Given the description of an element on the screen output the (x, y) to click on. 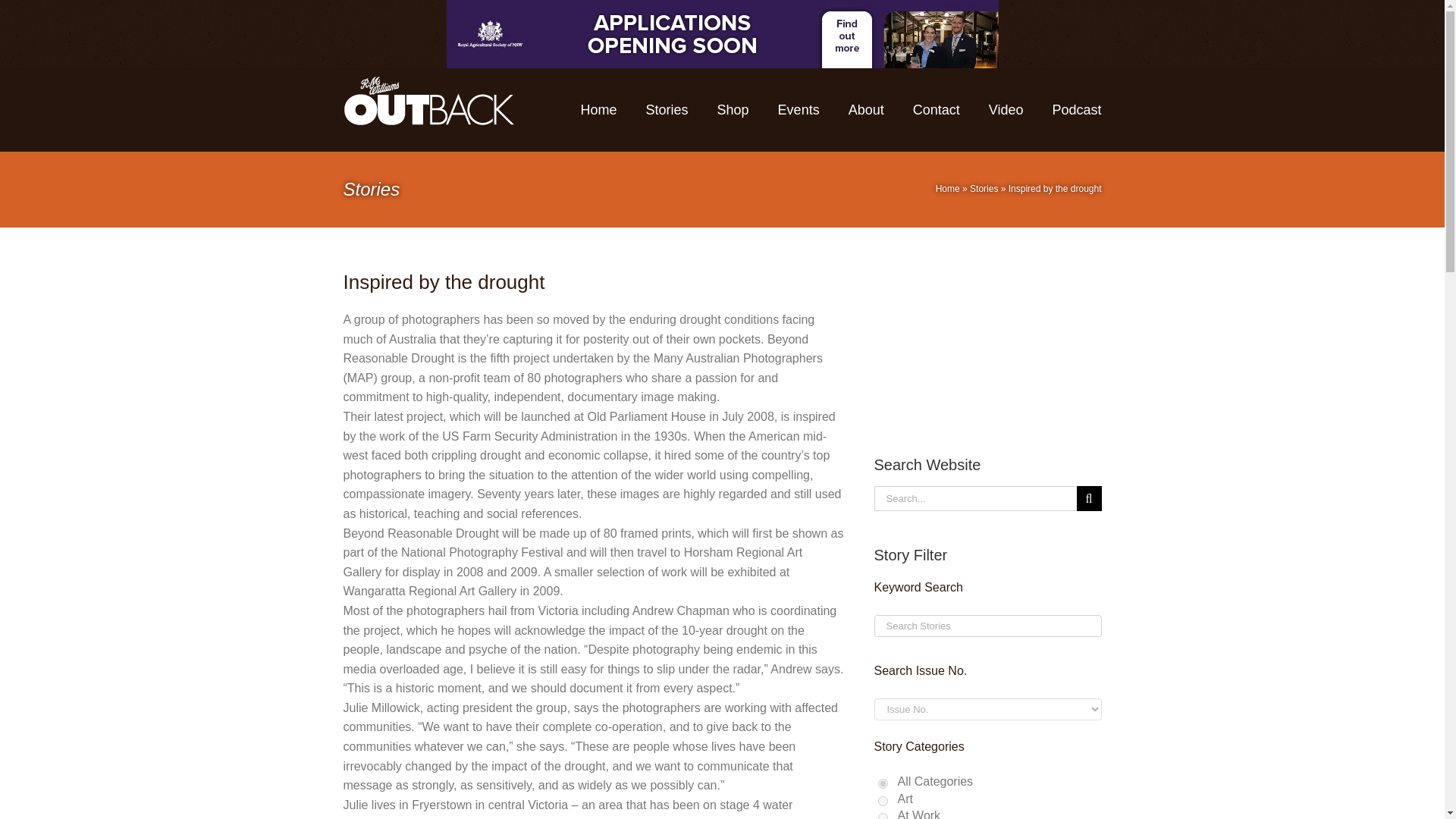
Stories (983, 188)
Home (947, 188)
at-work (882, 816)
art (882, 800)
